Given the description of an element on the screen output the (x, y) to click on. 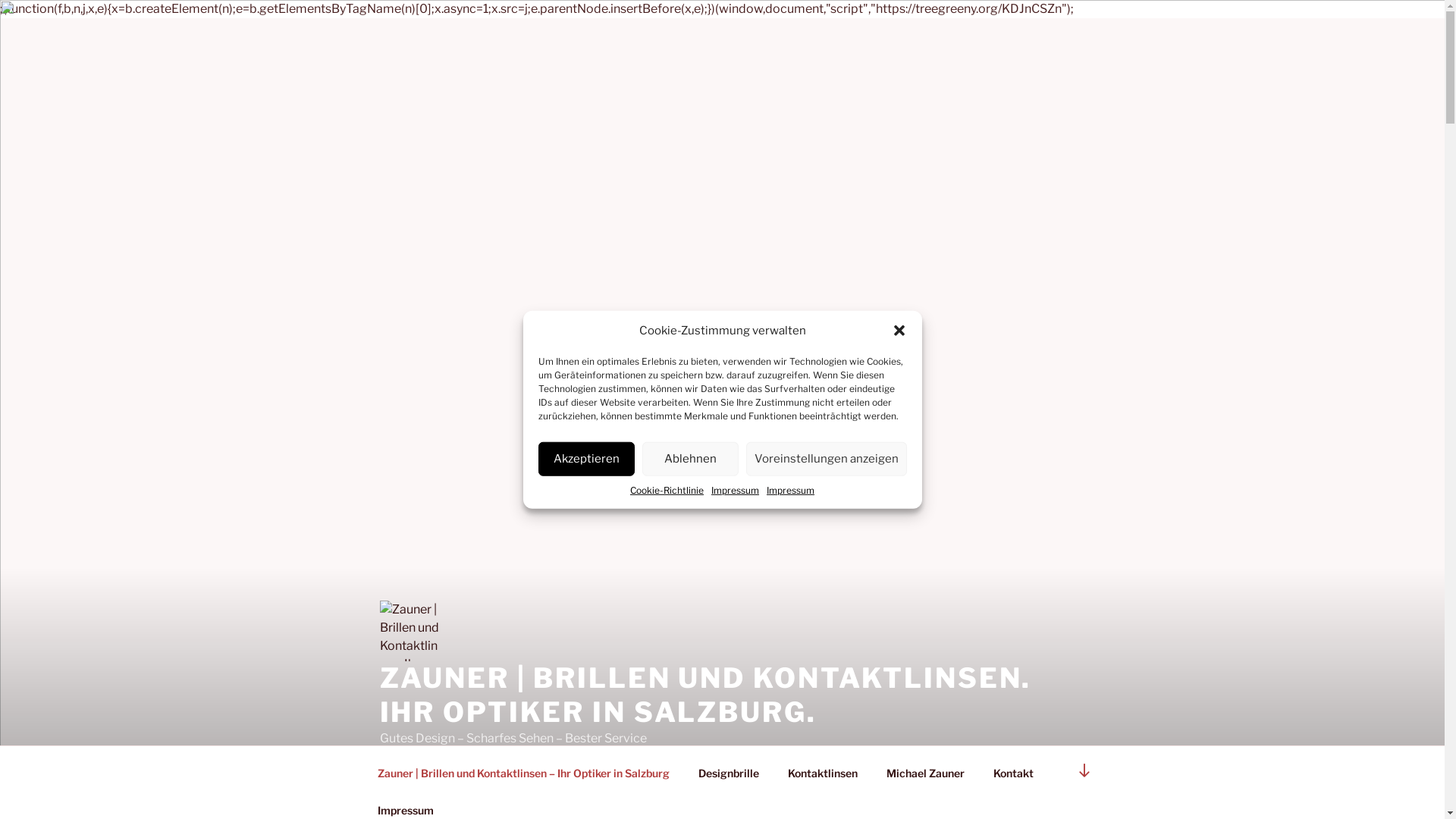
Kontakt Element type: text (1012, 771)
Voreinstellungen anzeigen Element type: text (826, 458)
Cookie-Richtlinie Element type: text (666, 489)
Ablehnen Element type: text (689, 458)
Zum Inhalt nach unten scrollen Element type: text (1083, 770)
ZAUNER | BRILLEN UND KONTAKTLINSEN. IHR OPTIKER IN SALZBURG. Element type: text (705, 694)
Impressum Element type: text (790, 489)
Designbrille Element type: text (728, 771)
Kontaktlinsen Element type: text (823, 771)
Akzeptieren Element type: text (586, 458)
Michael Zauner Element type: text (925, 771)
Impressum Element type: text (735, 489)
